Given the description of an element on the screen output the (x, y) to click on. 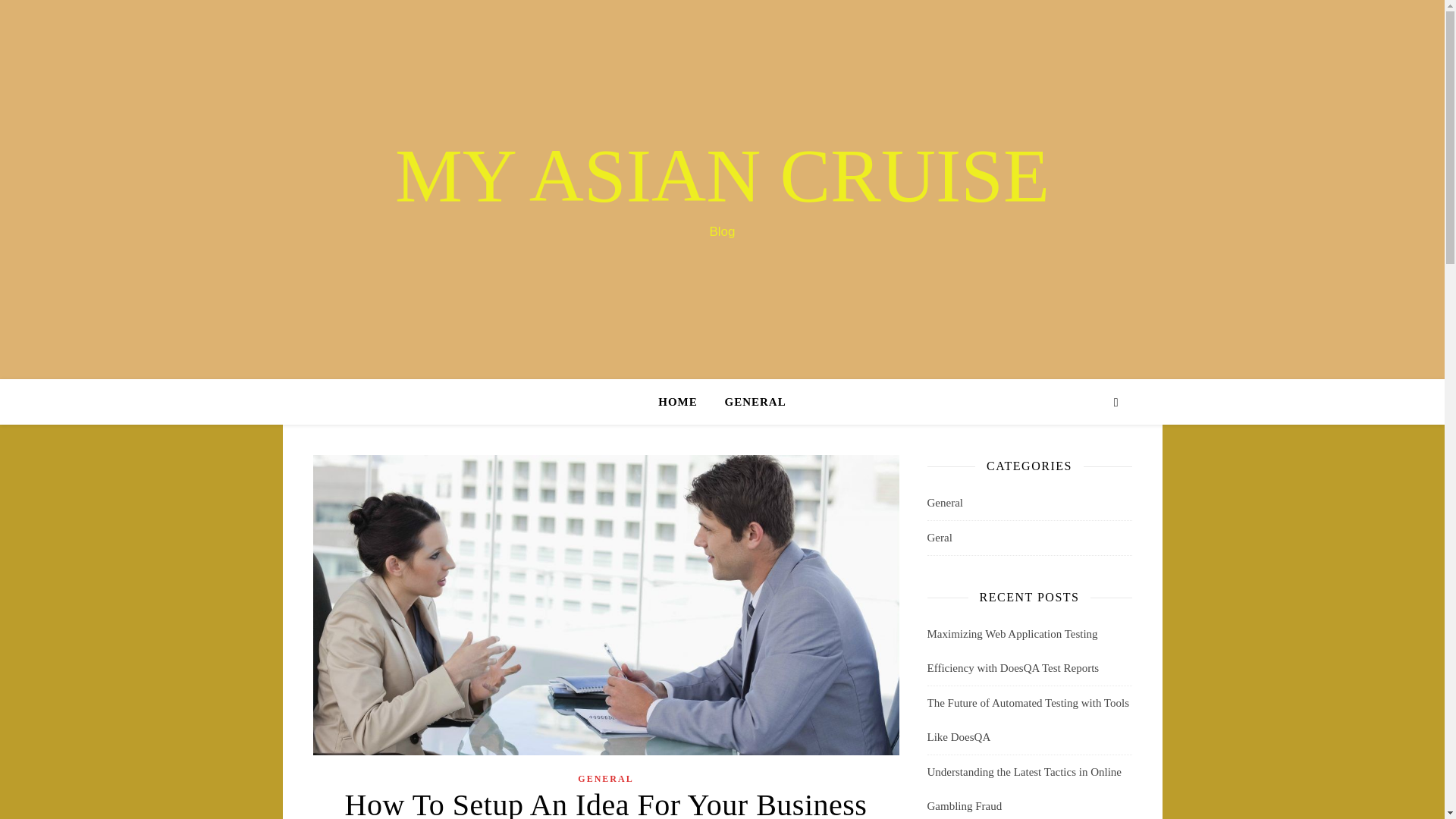
Understanding the Latest Tactics in Online Gambling Fraud (1023, 788)
General (944, 503)
GENERAL (749, 402)
HOME (684, 402)
The Future of Automated Testing with Tools Like DoesQA (1027, 719)
GENERAL (605, 778)
